Given the description of an element on the screen output the (x, y) to click on. 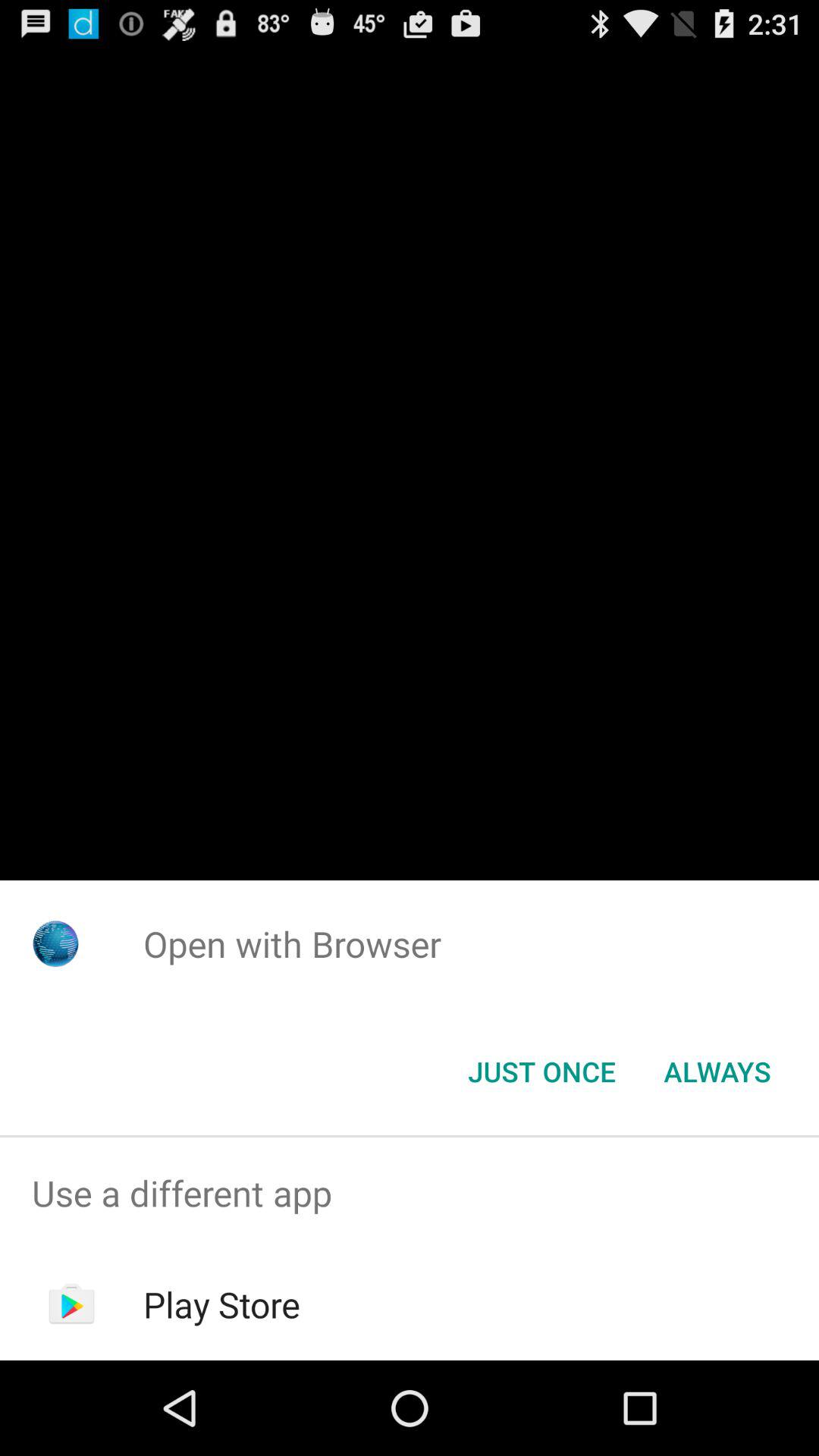
choose play store app (221, 1304)
